Given the description of an element on the screen output the (x, y) to click on. 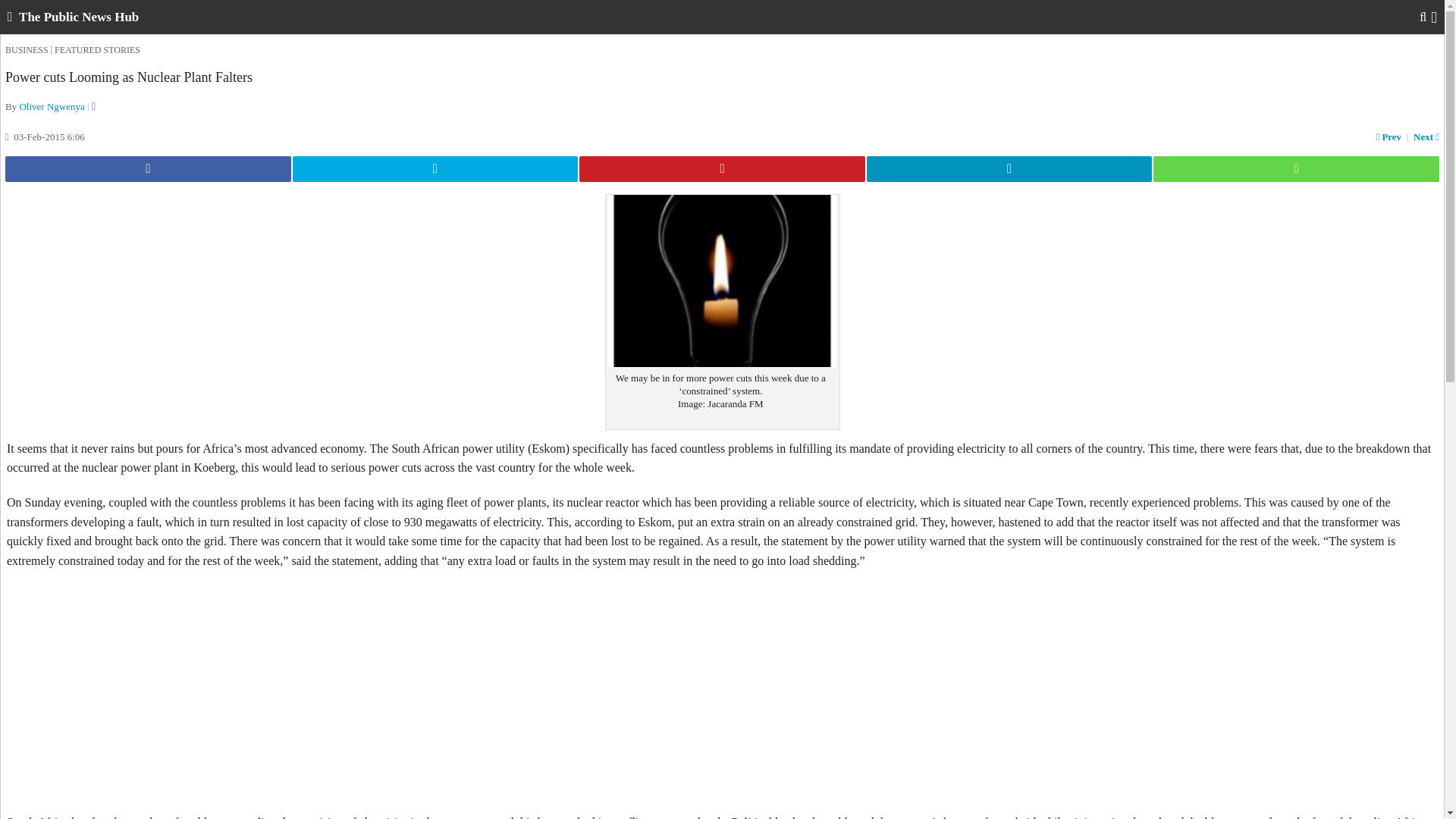
Oliver Ngwenya (51, 106)
Posts by Oliver Ngwenya (51, 106)
BUSINESS (26, 50)
FEATURED STORIES (97, 50)
Prev  (1390, 136)
 Next (1424, 136)
